Given the description of an element on the screen output the (x, y) to click on. 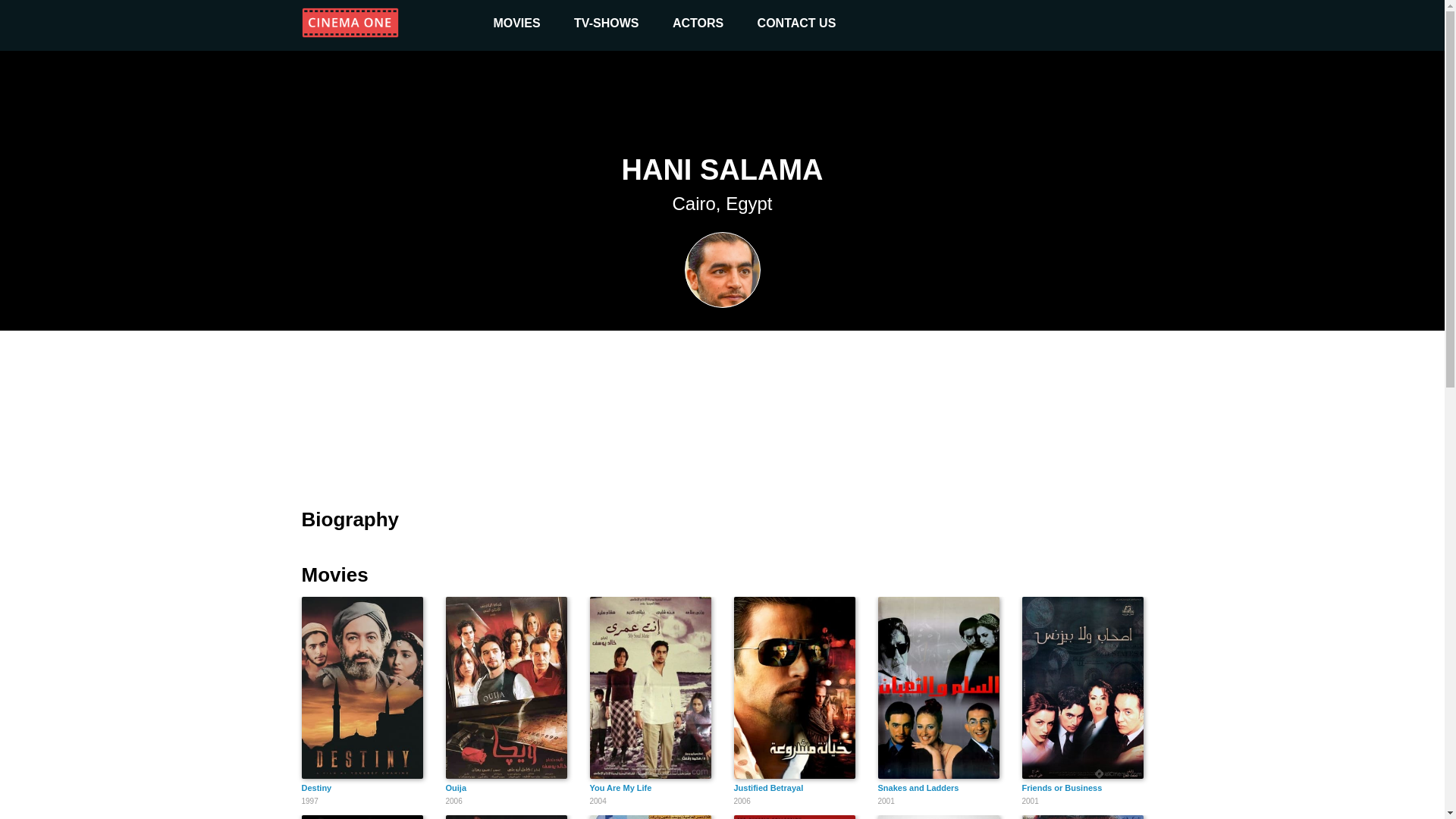
MOVIES (1082, 816)
Advertisement (937, 816)
ACTORS (650, 816)
TV-SHOWS (362, 816)
